Given the description of an element on the screen output the (x, y) to click on. 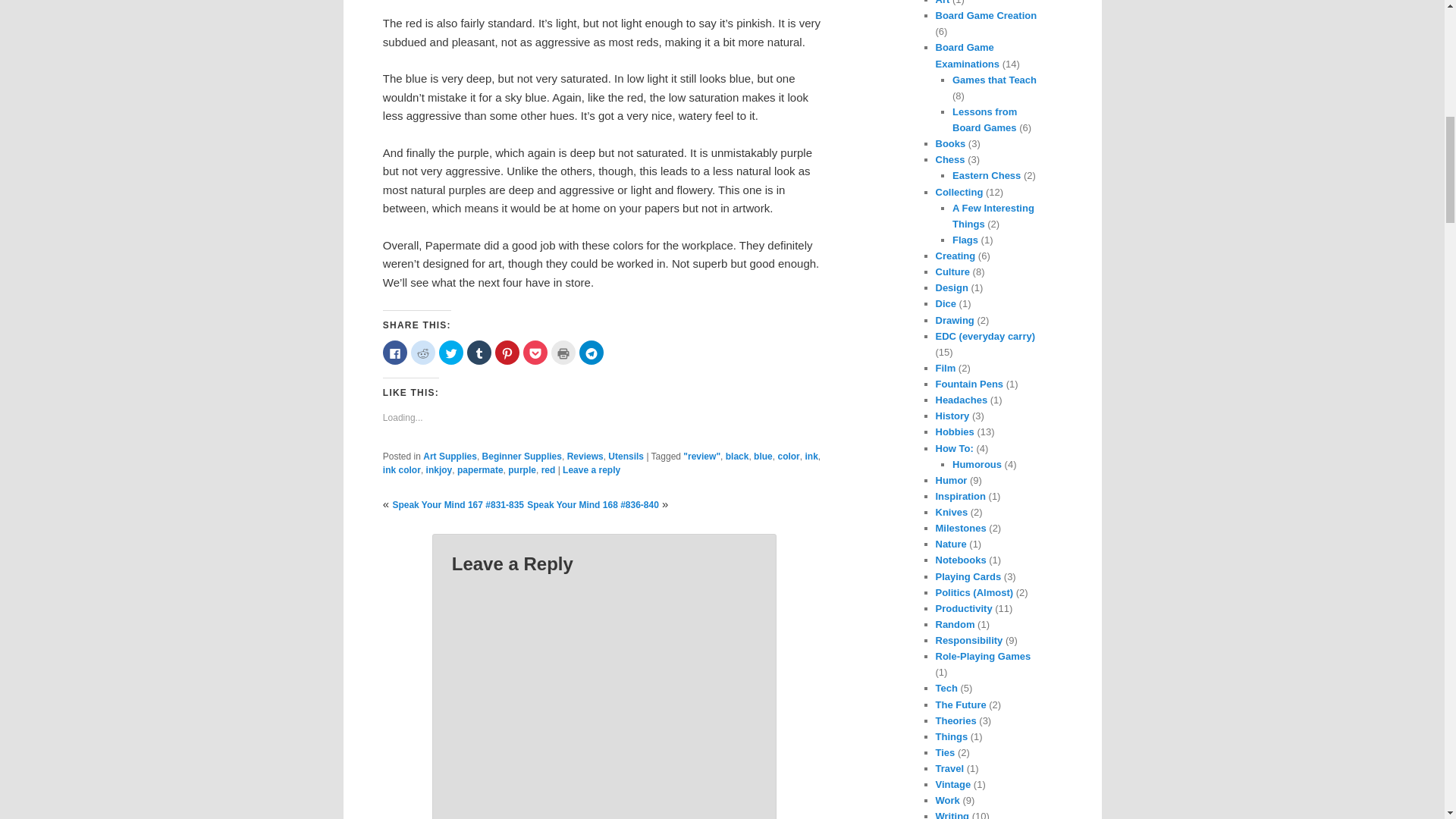
Click to share on Facebook (394, 352)
Click to share on Pinterest (507, 352)
Click to share on Twitter (451, 352)
Sign me up! (1349, 194)
Click to share on Tumblr (479, 352)
Click to share on Pocket (534, 352)
Click to print (563, 352)
Click to share on Reddit (422, 352)
Enter email address (1348, 166)
